Given the description of an element on the screen output the (x, y) to click on. 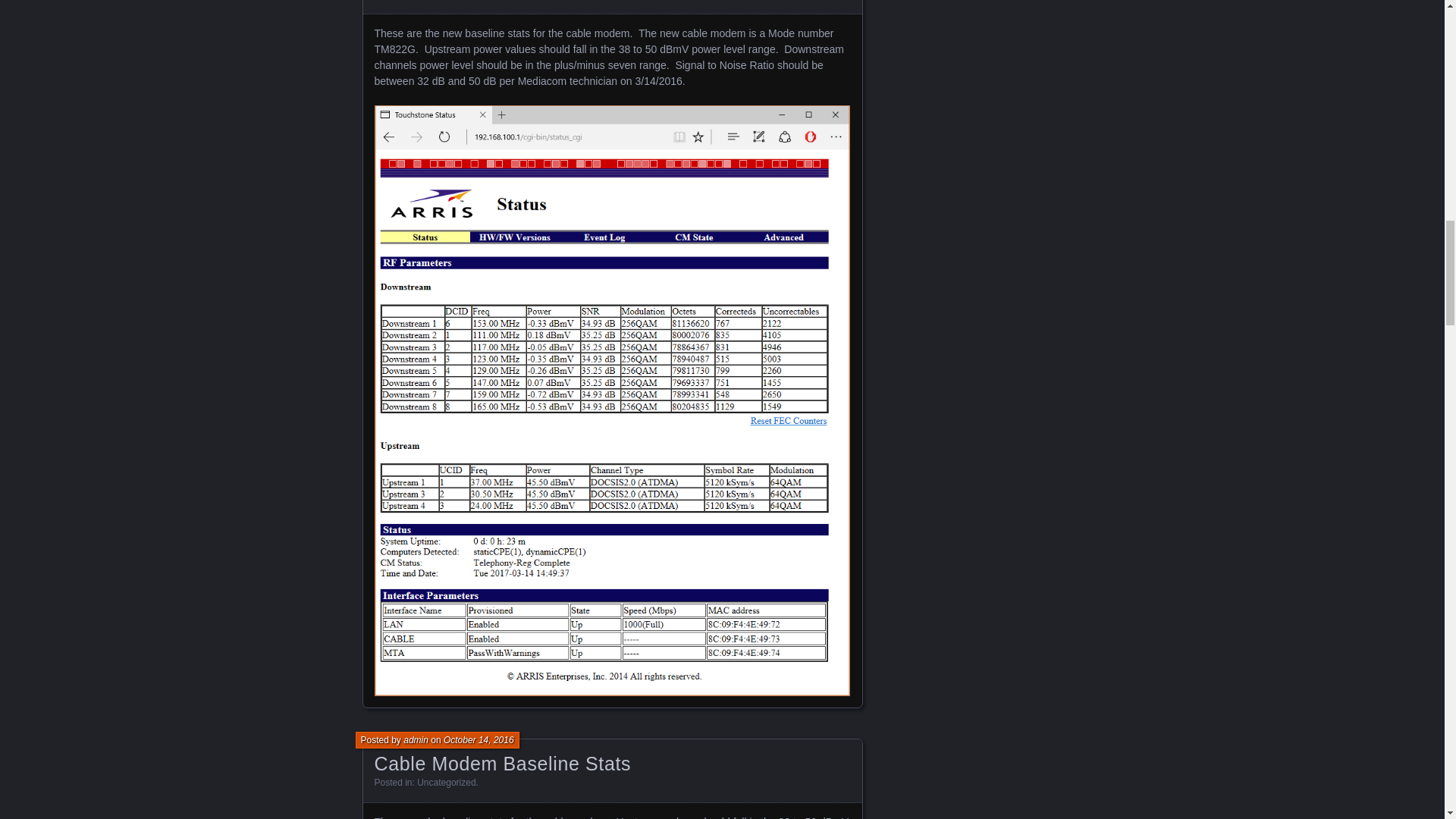
October 14, 2016 (478, 739)
Uncategorized (446, 782)
View all posts by admin (415, 739)
Cable Modem Baseline Stats (502, 762)
admin (415, 739)
